Given the description of an element on the screen output the (x, y) to click on. 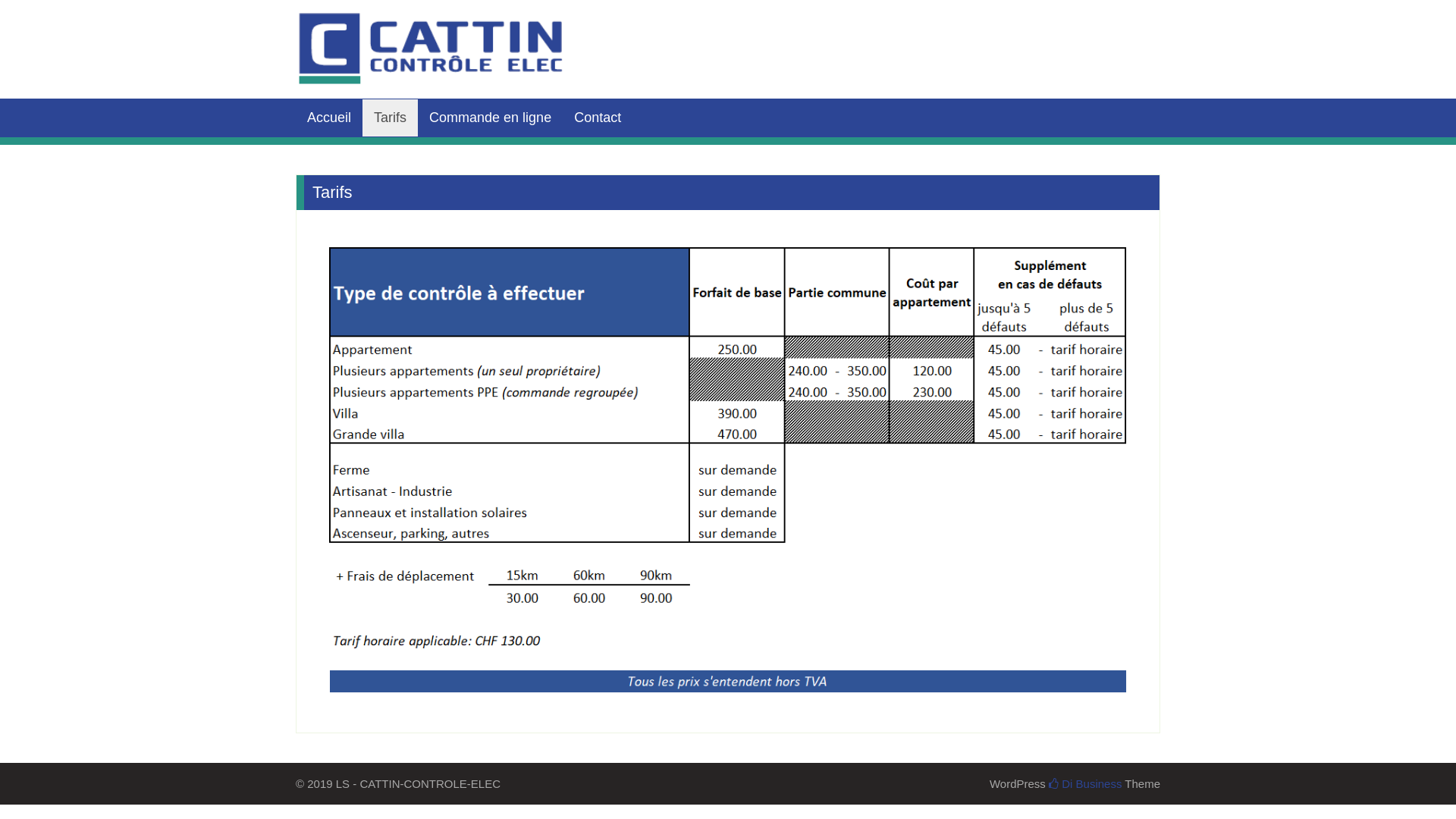
Di Business Element type: text (1084, 783)
Commande en ligne Element type: text (489, 117)
Tarifs Element type: text (389, 117)
Accueil Element type: text (328, 117)
Contact Element type: text (597, 117)
